Given the description of an element on the screen output the (x, y) to click on. 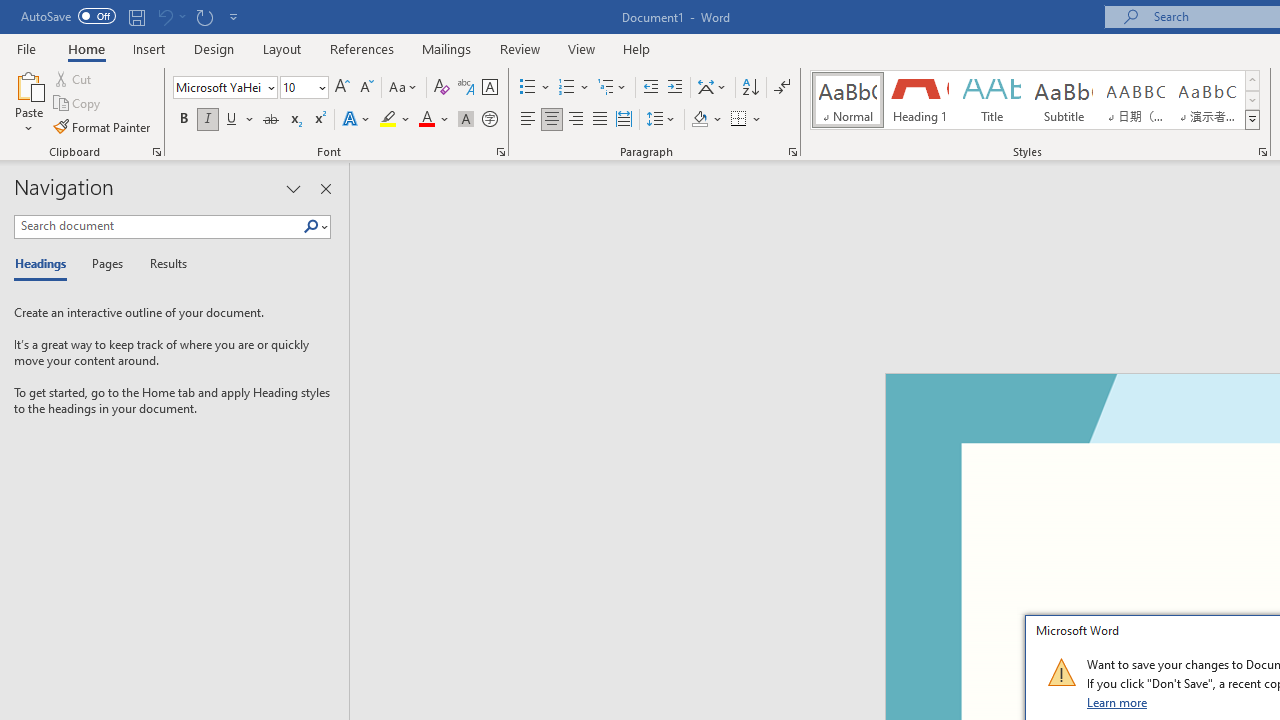
Pages (105, 264)
Can't Undo (164, 15)
Numbering (573, 87)
Align Right (575, 119)
Review (520, 48)
Row up (1252, 79)
Font Size (304, 87)
Underline (232, 119)
AutoSave (68, 16)
Font... (500, 151)
Office Clipboard... (156, 151)
Grow Font (342, 87)
Search (315, 227)
Search (311, 227)
